Given the description of an element on the screen output the (x, y) to click on. 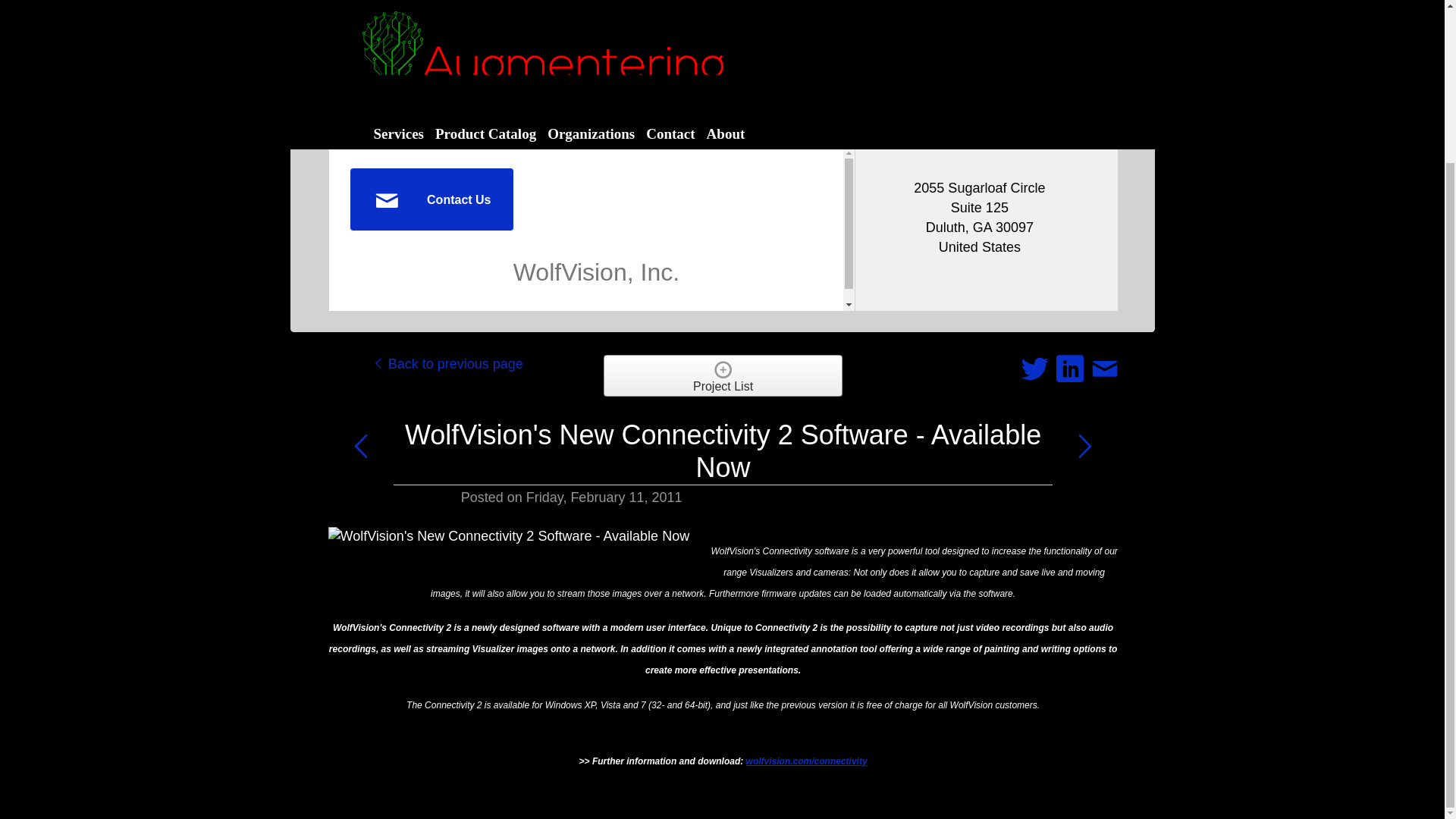
Go (641, 100)
Go (641, 100)
Enter search words... (531, 100)
